Given the description of an element on the screen output the (x, y) to click on. 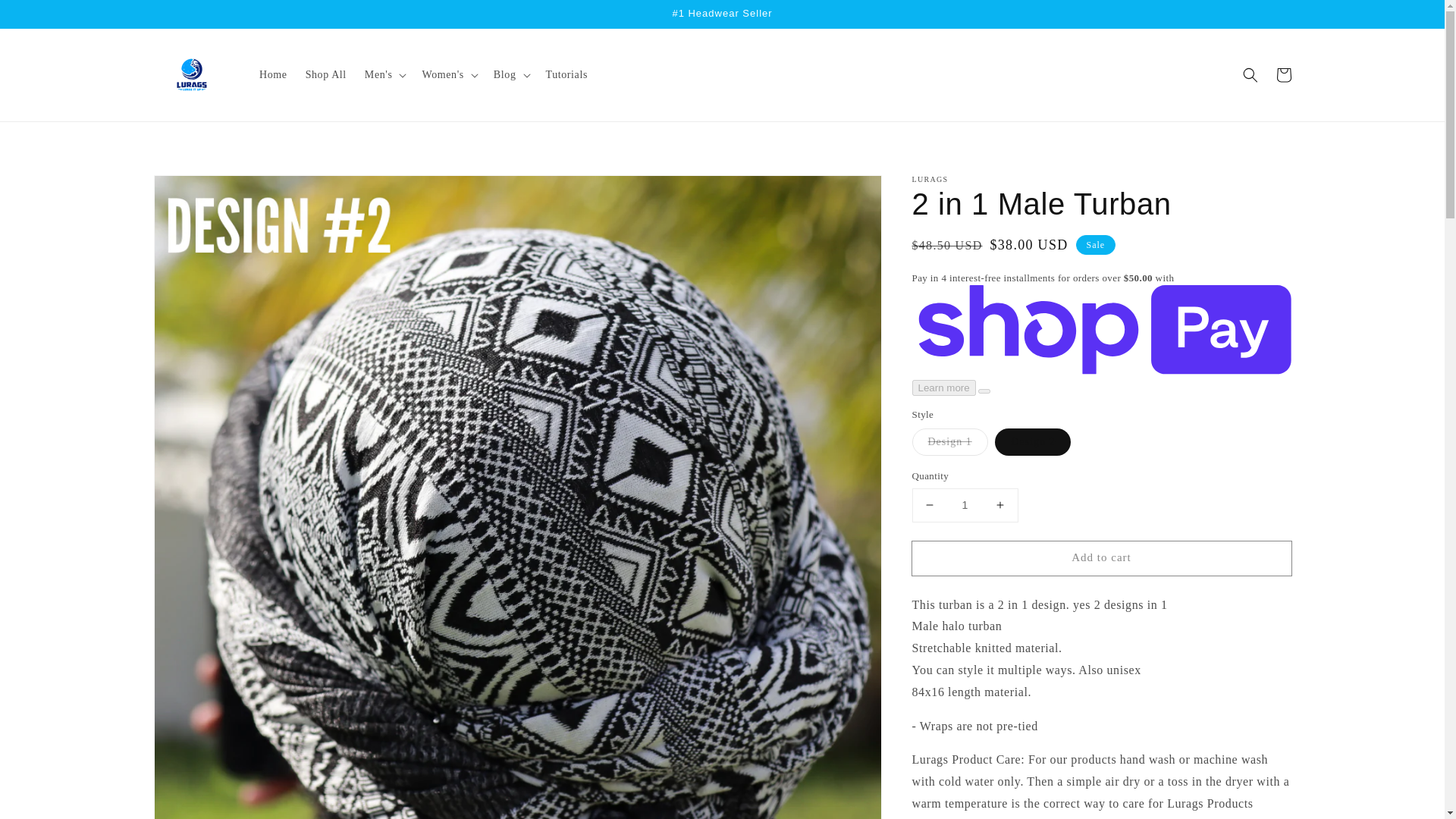
1 (964, 504)
Shop All (326, 74)
Skip to content (45, 16)
Home (273, 74)
